Given the description of an element on the screen output the (x, y) to click on. 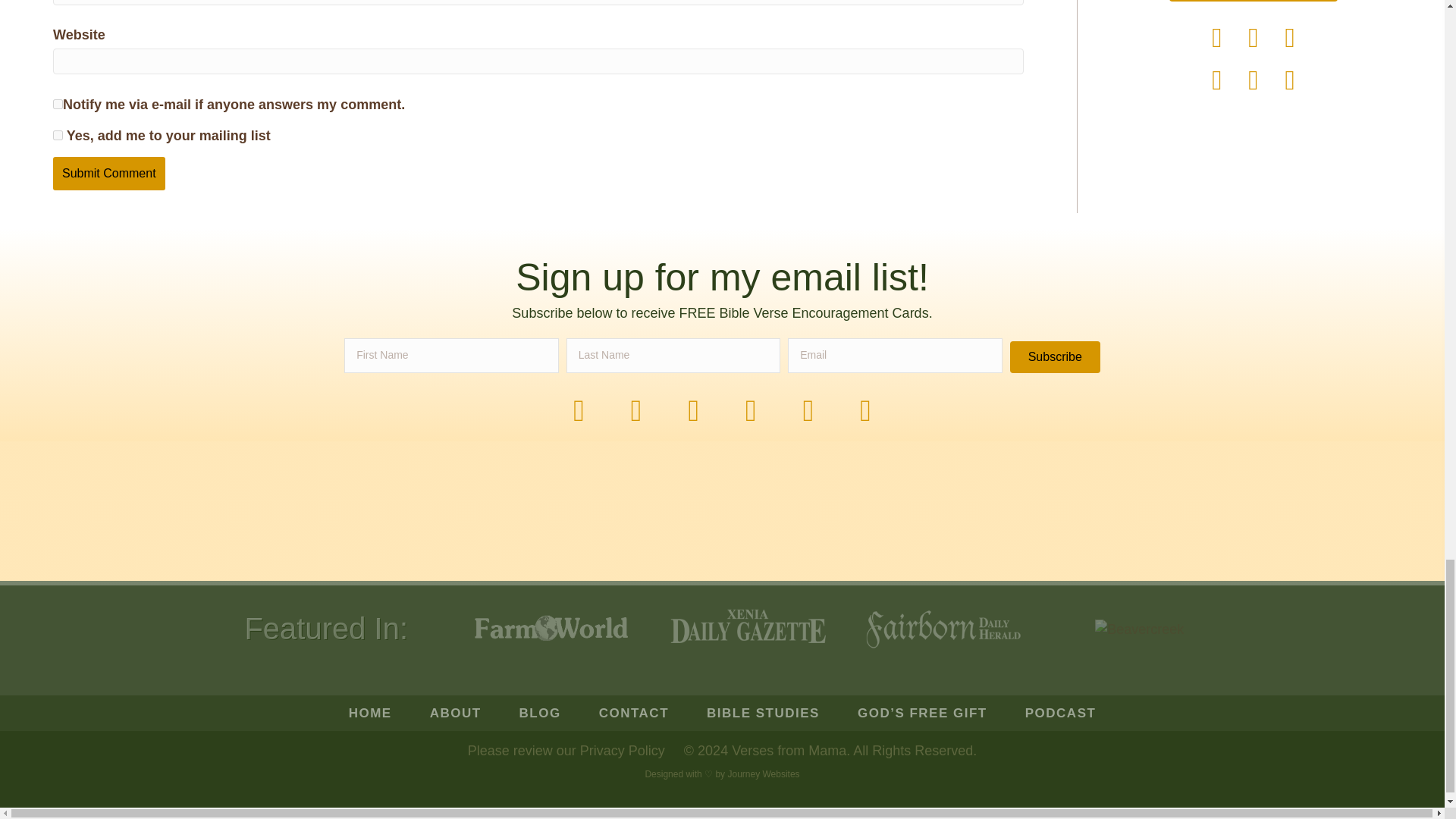
1 (57, 135)
Click Here (1055, 357)
on (57, 103)
Submit Comment (108, 173)
Submit Comment (108, 173)
